Given the description of an element on the screen output the (x, y) to click on. 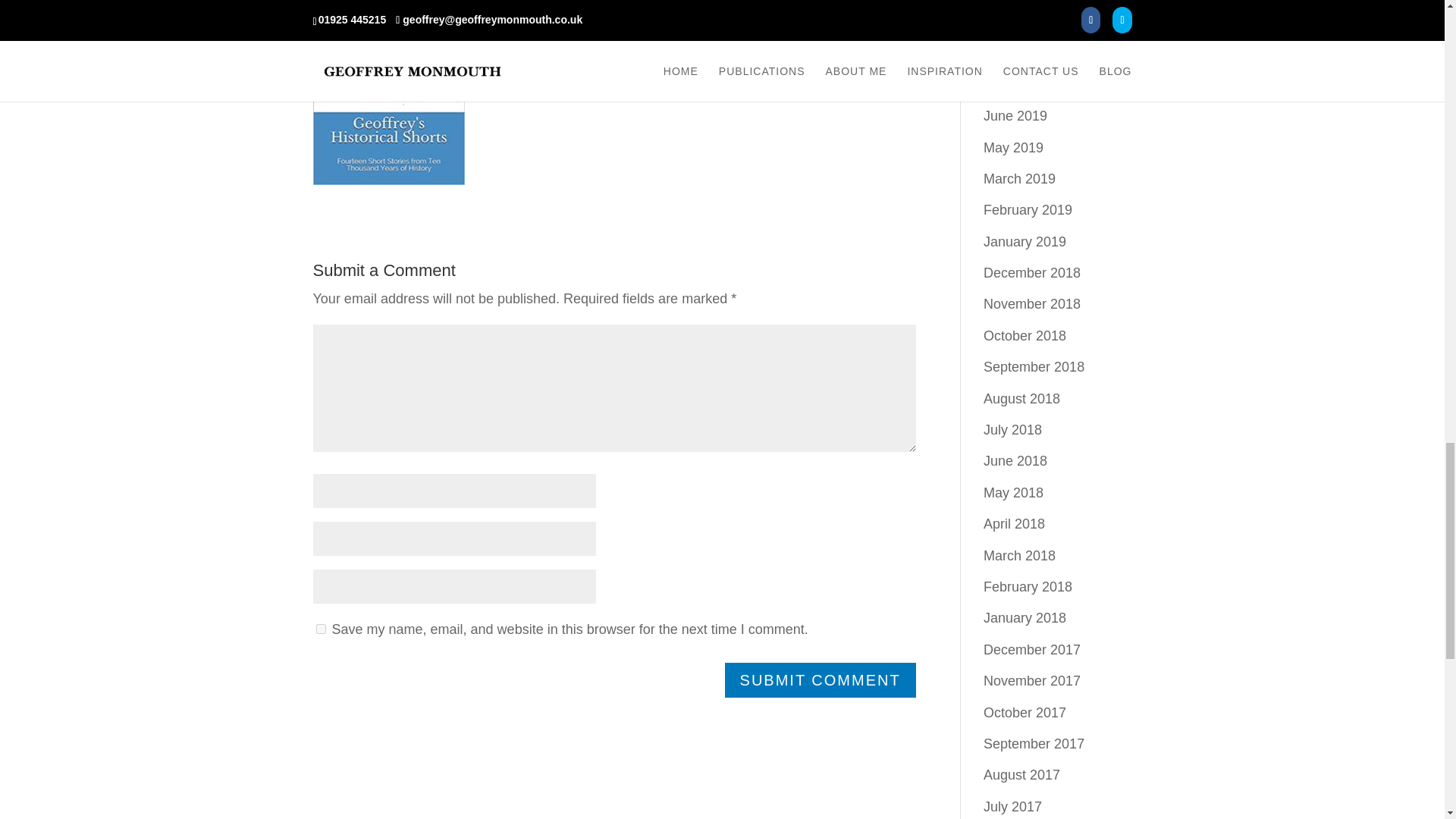
yes (319, 628)
Submit Comment (820, 679)
Submit Comment (820, 679)
